Given the description of an element on the screen output the (x, y) to click on. 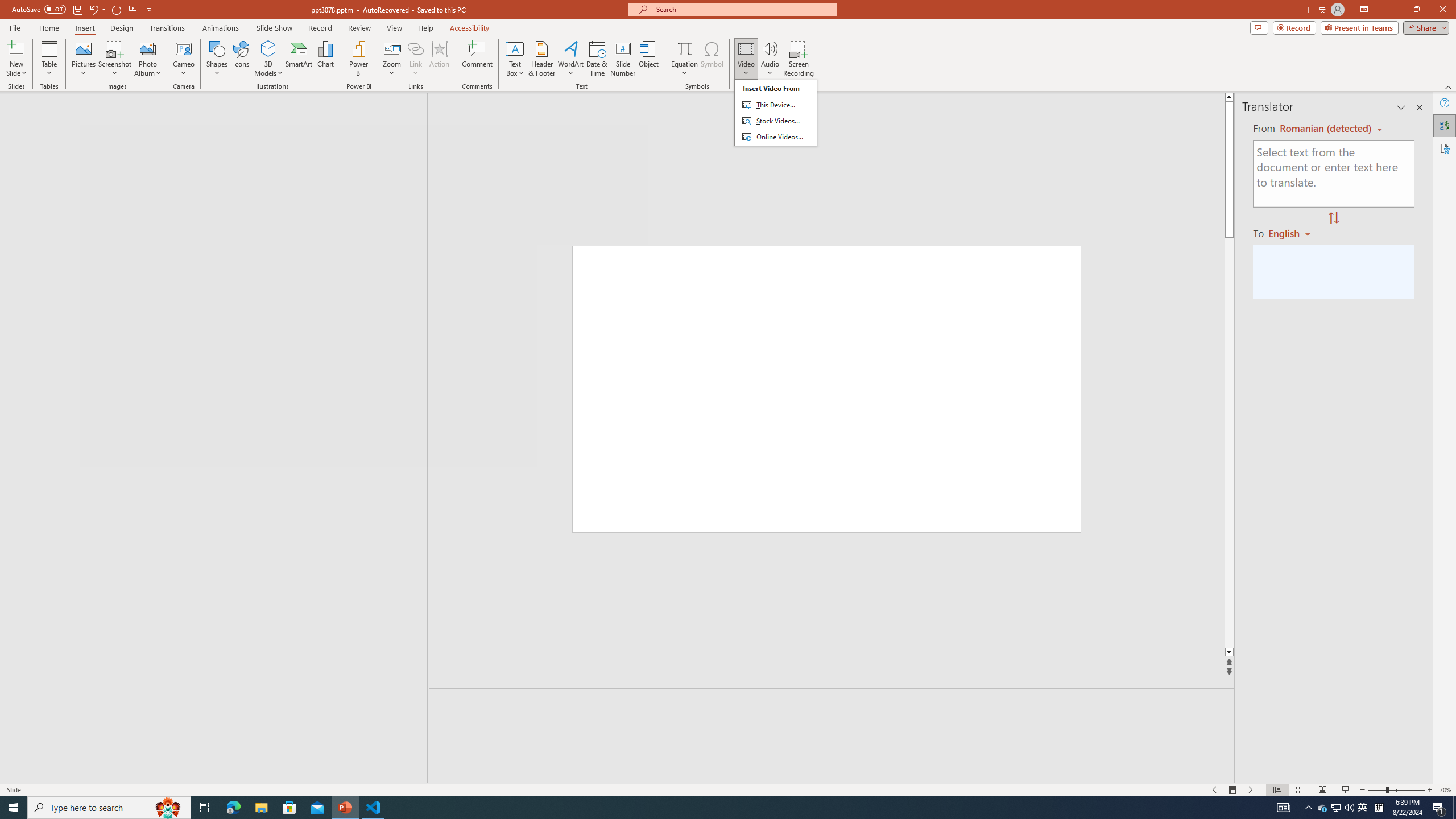
Link (415, 58)
Video (745, 58)
Table (49, 58)
Chart... (325, 58)
Zoom 70% (1445, 790)
Photo Album... (147, 58)
Link (415, 48)
Slide Notes (831, 705)
